Given the description of an element on the screen output the (x, y) to click on. 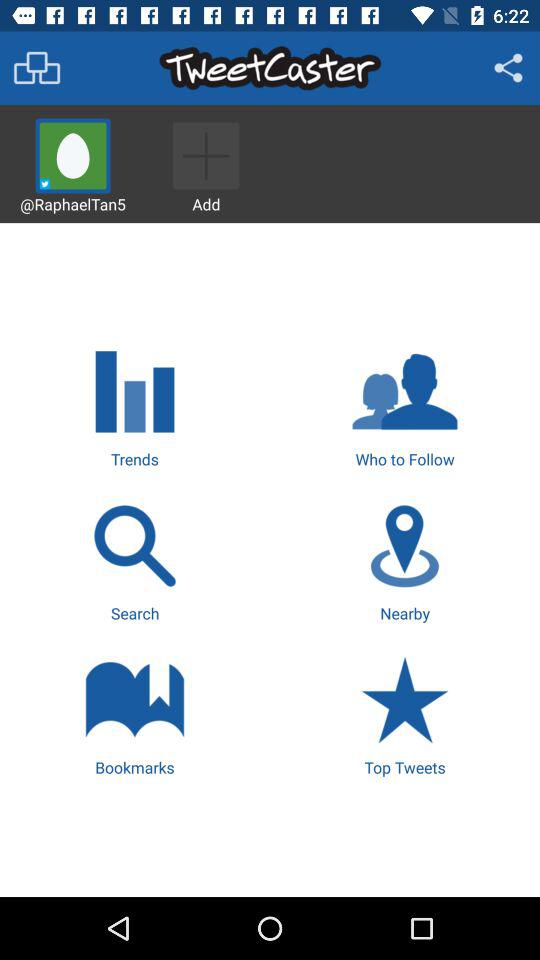
launch item to the left of the who to follow (134, 405)
